Given the description of an element on the screen output the (x, y) to click on. 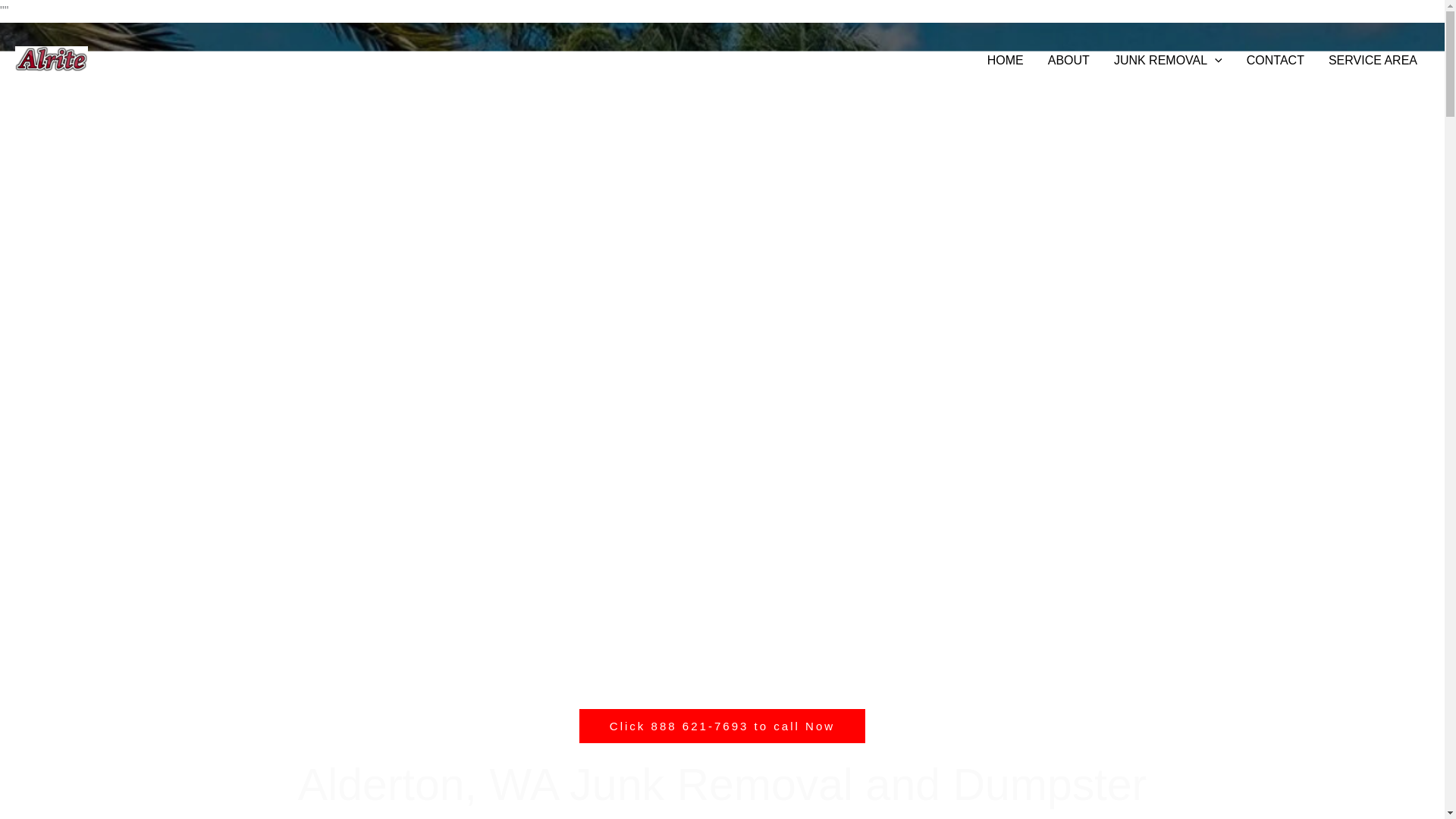
JUNK REMOVAL (1168, 60)
ABOUT (1068, 60)
CONTACT (1275, 60)
HOME (1005, 60)
SERVICE AREA (1372, 60)
Click 888 621-7693 to call Now (721, 725)
